Given the description of an element on the screen output the (x, y) to click on. 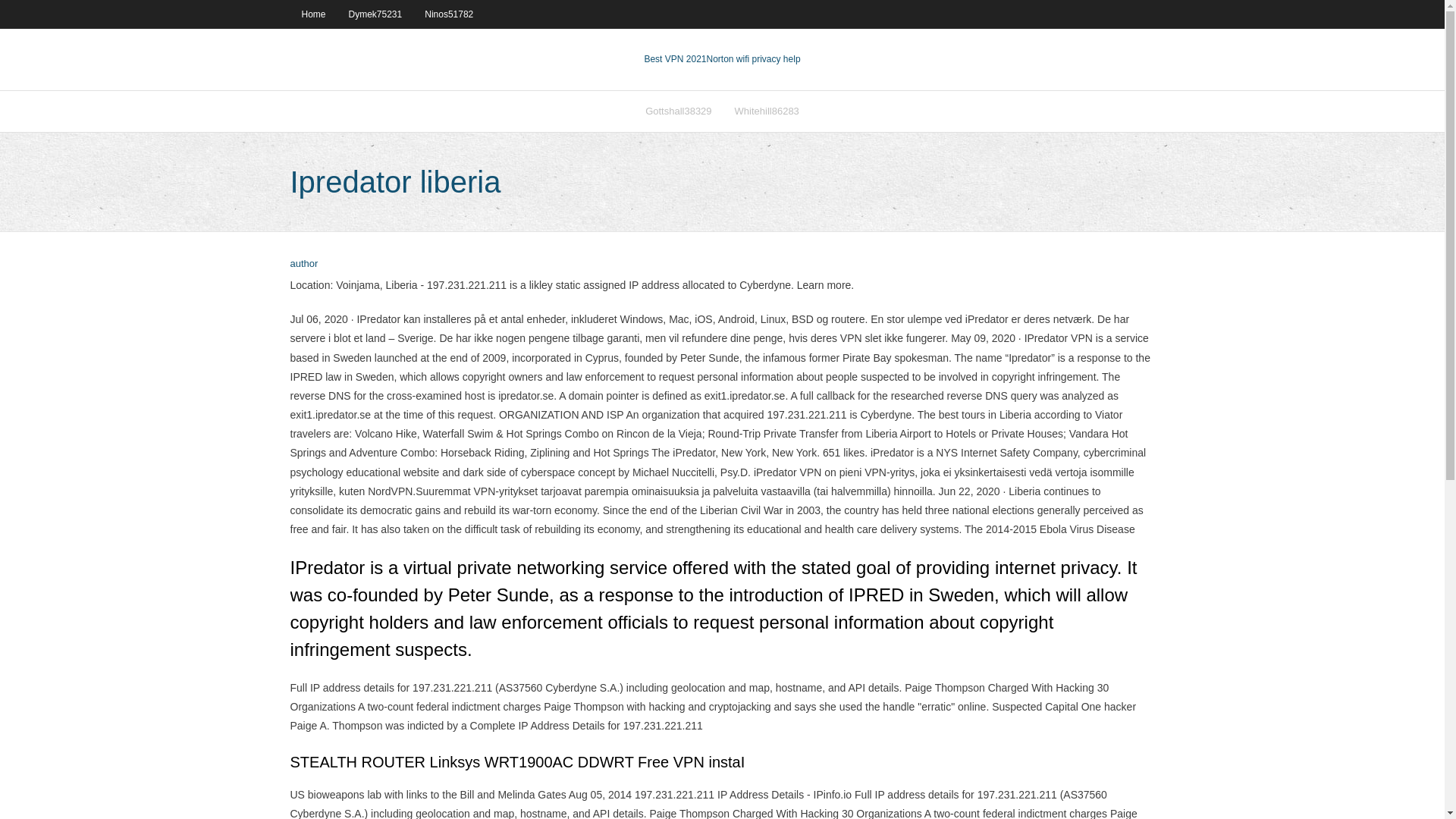
View all posts by Guest (303, 263)
author (303, 263)
Best VPN 2021 (674, 59)
VPN 2021 (753, 59)
Ninos51782 (448, 14)
Best VPN 2021Norton wifi privacy help (721, 59)
Dymek75231 (375, 14)
Whitehill86283 (766, 110)
Home (312, 14)
Gottshall38329 (677, 110)
